Given the description of an element on the screen output the (x, y) to click on. 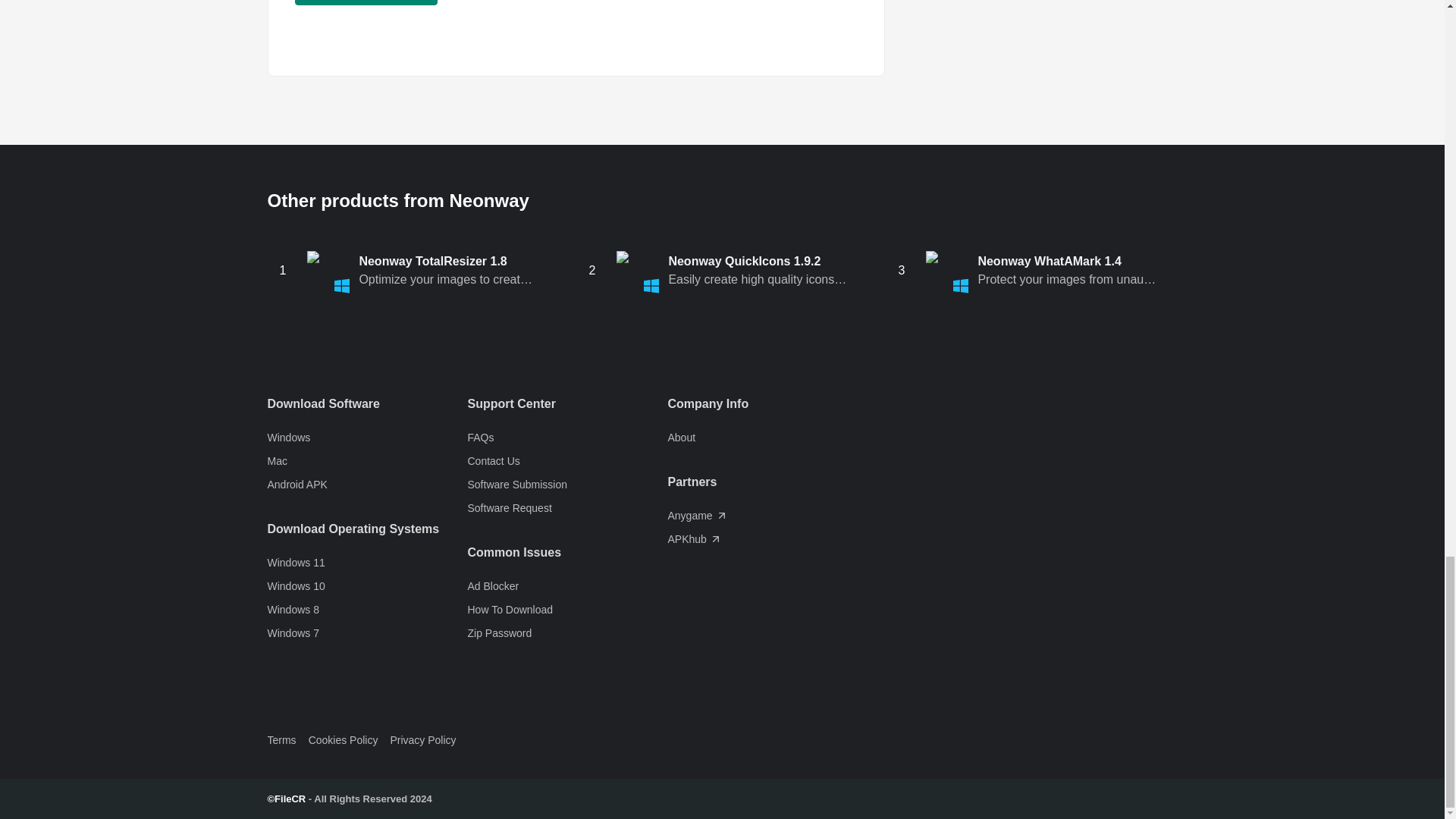
Windows (366, 437)
Post Comment (366, 2)
